Given the description of an element on the screen output the (x, y) to click on. 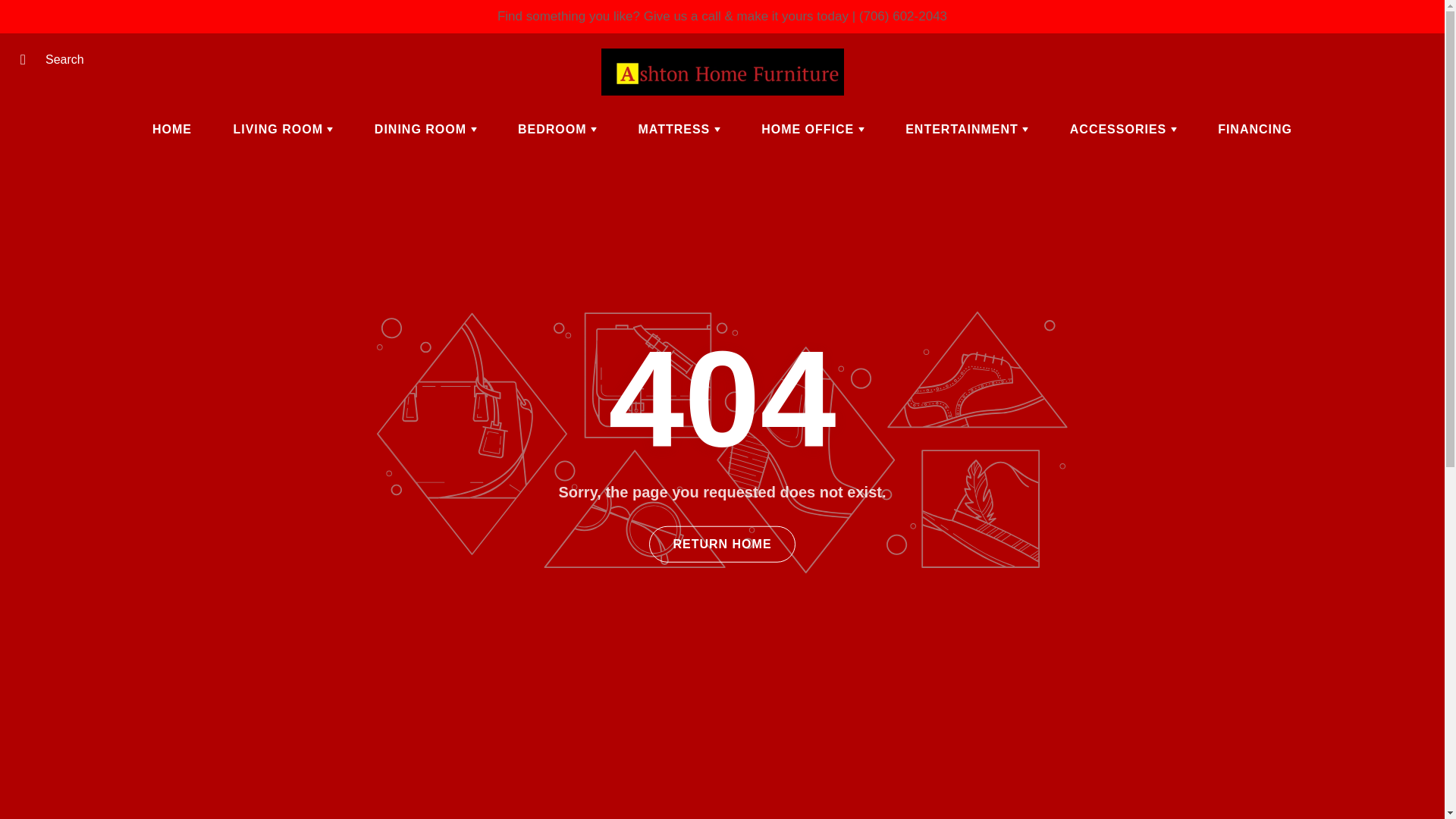
BEDROOM (557, 129)
HOME (172, 129)
MATTRESS (678, 129)
DINING ROOM (425, 129)
Search (28, 59)
LIVING ROOM (283, 129)
